Given the description of an element on the screen output the (x, y) to click on. 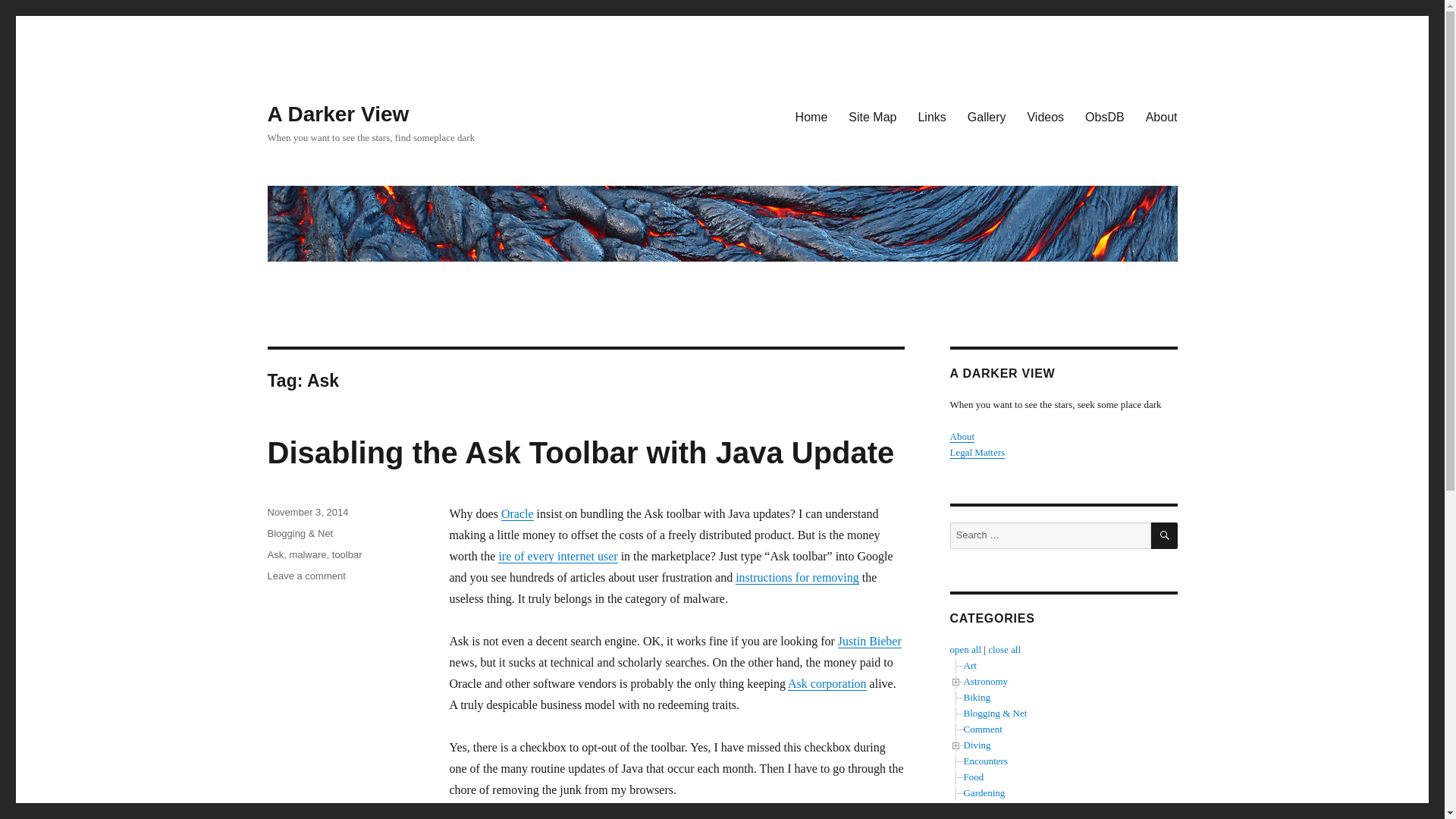
Art (968, 665)
Exploring the cosmos (984, 681)
Astronomy (984, 681)
Videos (1045, 116)
SEARCH (1164, 535)
Oracle (517, 513)
Art (968, 665)
About (961, 436)
November 3, 2014 (306, 511)
instructions for removing (797, 576)
